Given the description of an element on the screen output the (x, y) to click on. 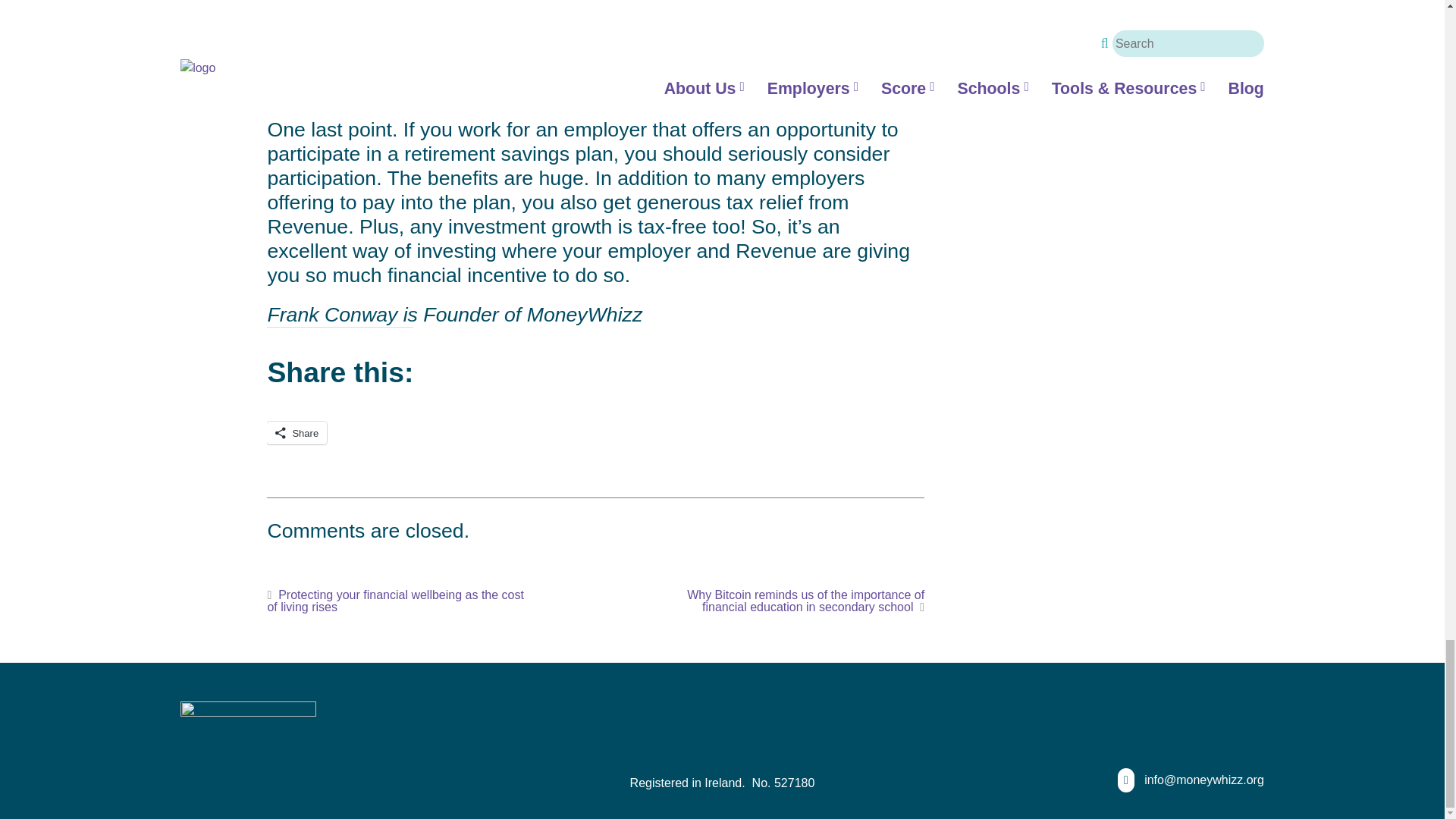
Share (296, 432)
